Given the description of an element on the screen output the (x, y) to click on. 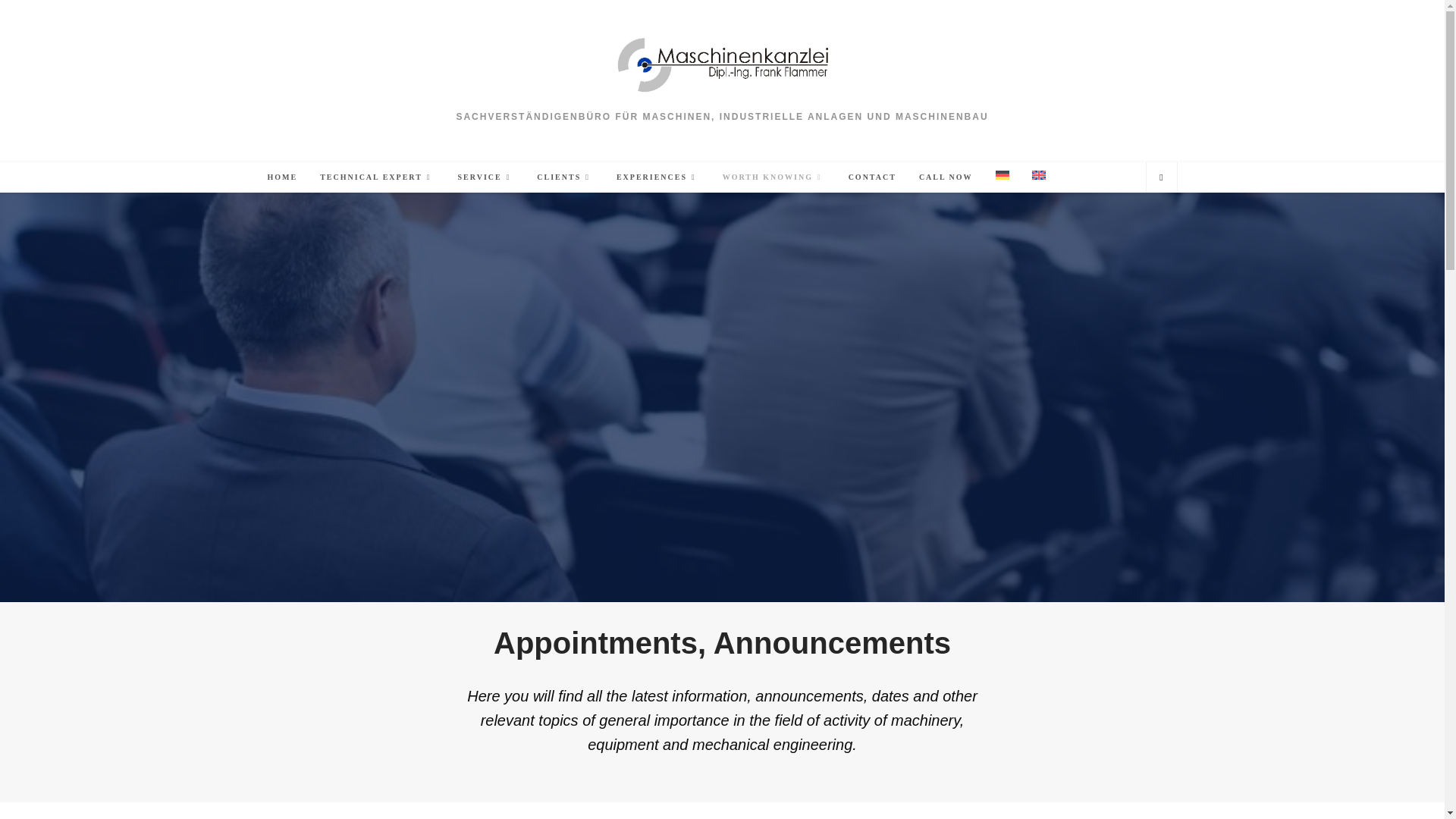
CONTACT (872, 177)
CLIENTS (565, 177)
WORTH KNOWING (774, 177)
CALL NOW (945, 177)
TECHNICAL EXPERT (376, 177)
SERVICE (485, 177)
HOME (282, 177)
EXPERIENCES (658, 177)
